Given the description of an element on the screen output the (x, y) to click on. 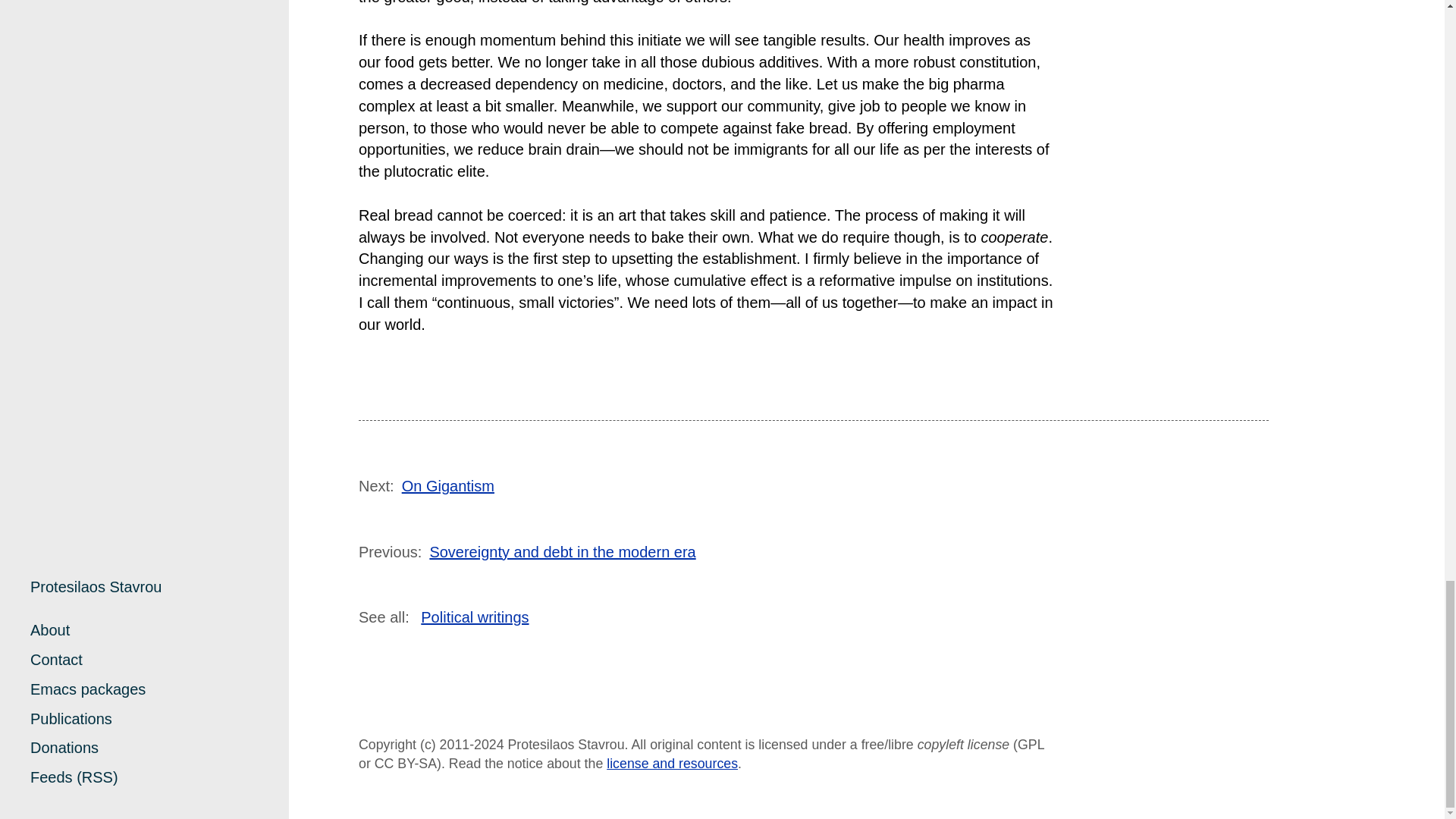
license and resources (672, 763)
On Gigantism (448, 485)
Political writings (474, 617)
Sovereignty and debt in the modern era (562, 551)
